Given the description of an element on the screen output the (x, y) to click on. 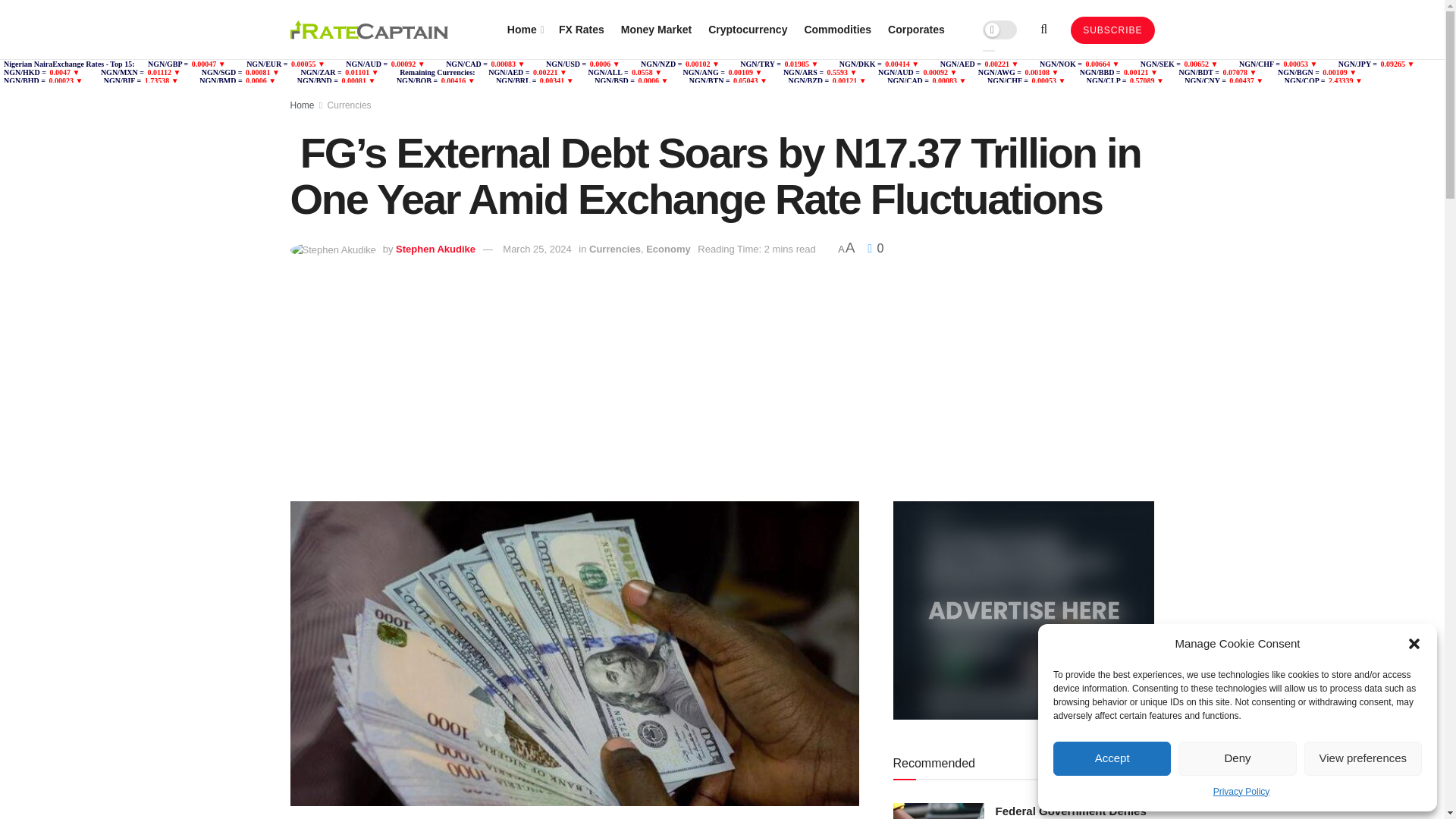
Cryptocurrency (747, 29)
SUBSCRIBE (1112, 30)
Money Market (656, 29)
Commodities (836, 29)
Deny (1236, 758)
Home (301, 104)
Privacy Policy (1240, 791)
Accept (1111, 758)
FX Rates (581, 29)
View preferences (1363, 758)
Corporates (916, 29)
Home (523, 29)
Currencies (349, 104)
